Given the description of an element on the screen output the (x, y) to click on. 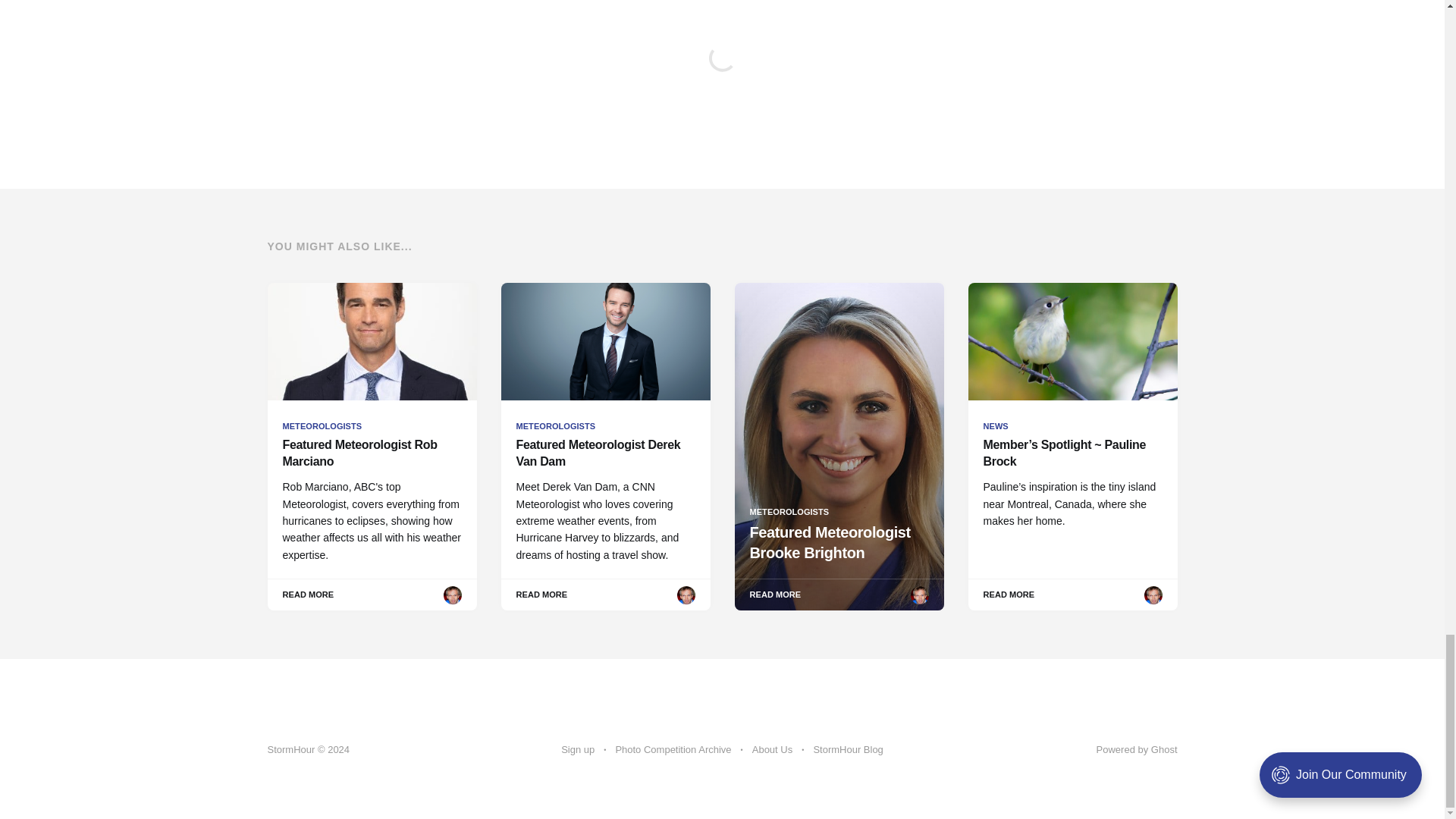
Powered by Ghost (1136, 749)
StormHour Blog (847, 750)
comments-frame (721, 76)
Sign up (577, 750)
Photo Competition Archive (672, 750)
About Us (772, 750)
